Given the description of an element on the screen output the (x, y) to click on. 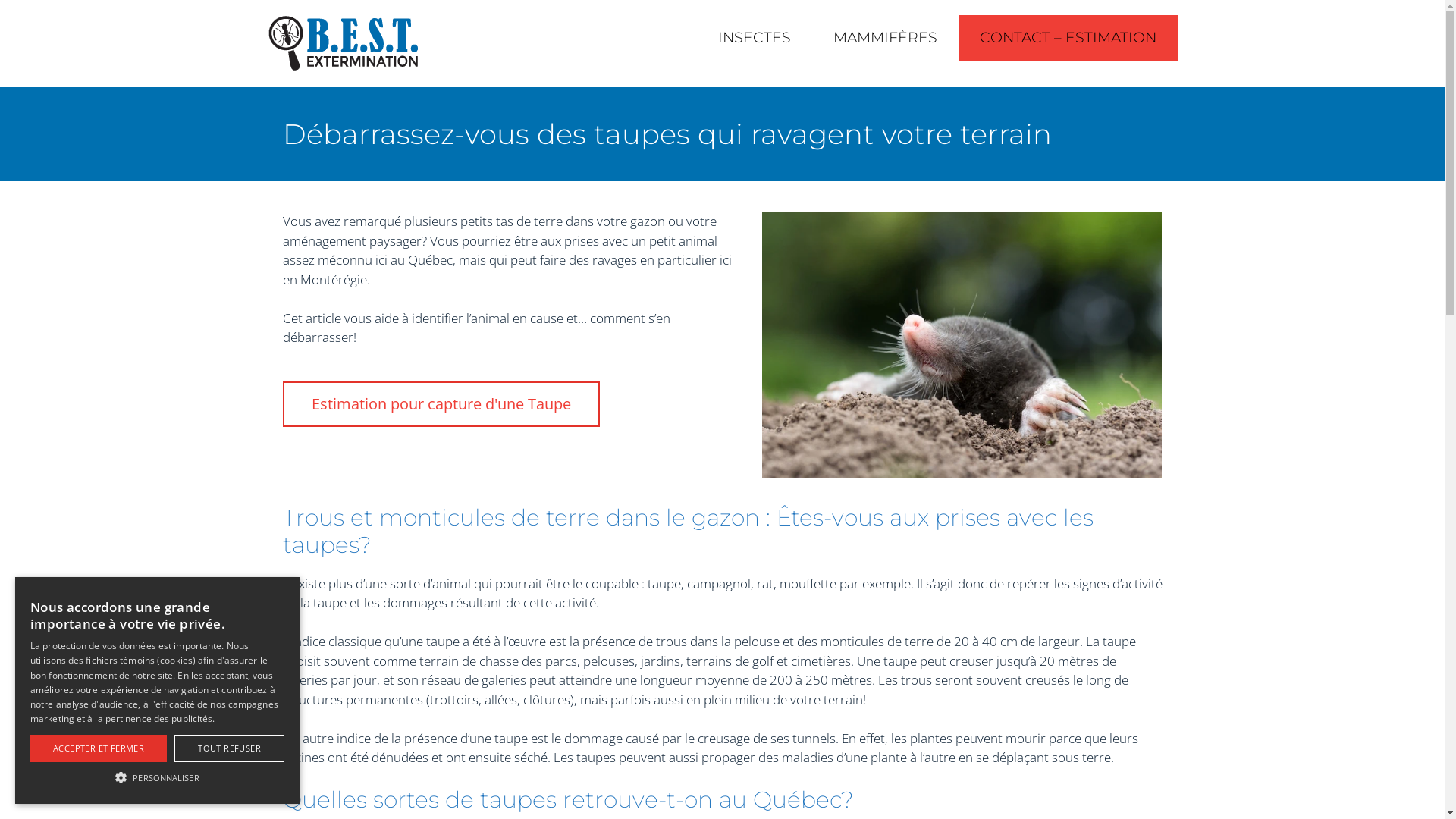
INSECTES Element type: text (753, 37)
Estimation pour capture d'une Taupe Element type: text (440, 403)
taupe-dans-gazon Element type: hover (962, 343)
